Given the description of an element on the screen output the (x, y) to click on. 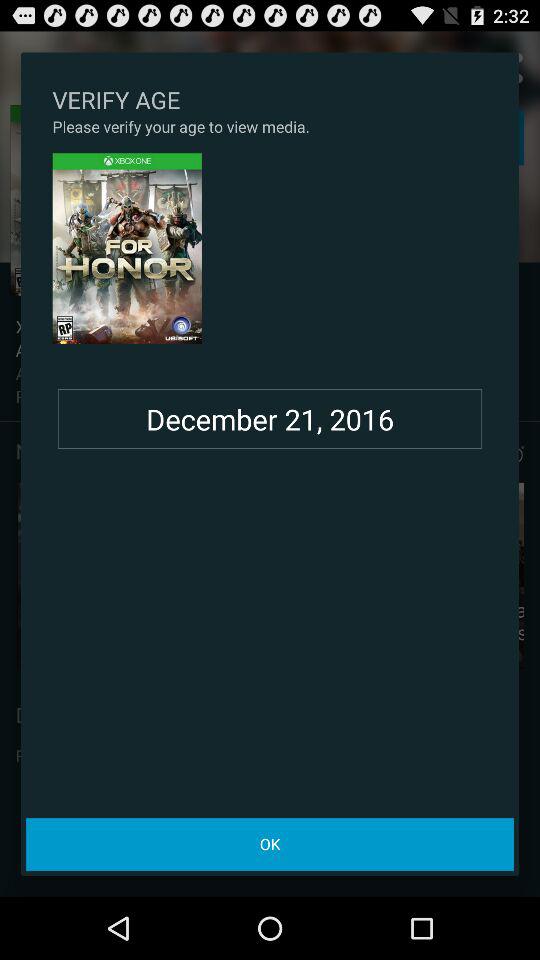
flip until the ok item (270, 844)
